Given the description of an element on the screen output the (x, y) to click on. 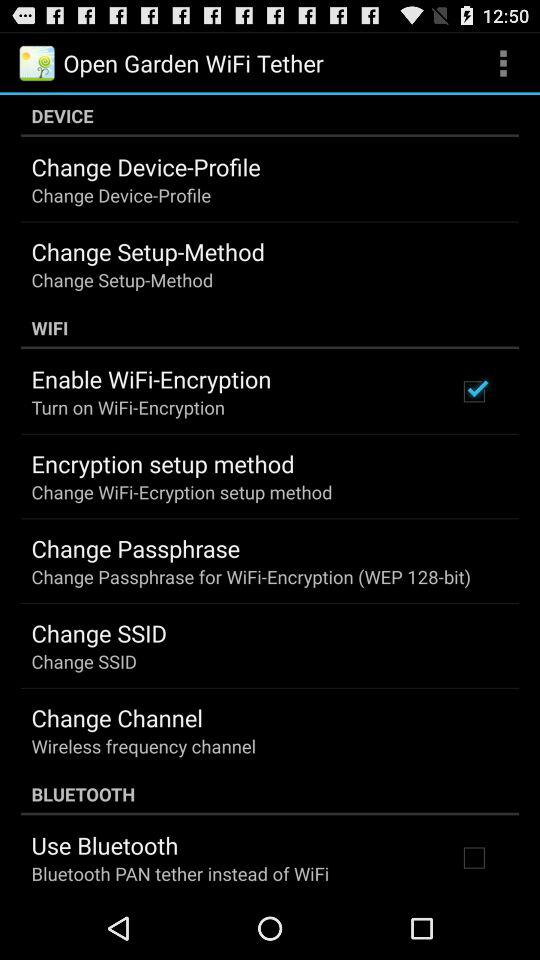
turn on the app below change ssid item (116, 717)
